Given the description of an element on the screen output the (x, y) to click on. 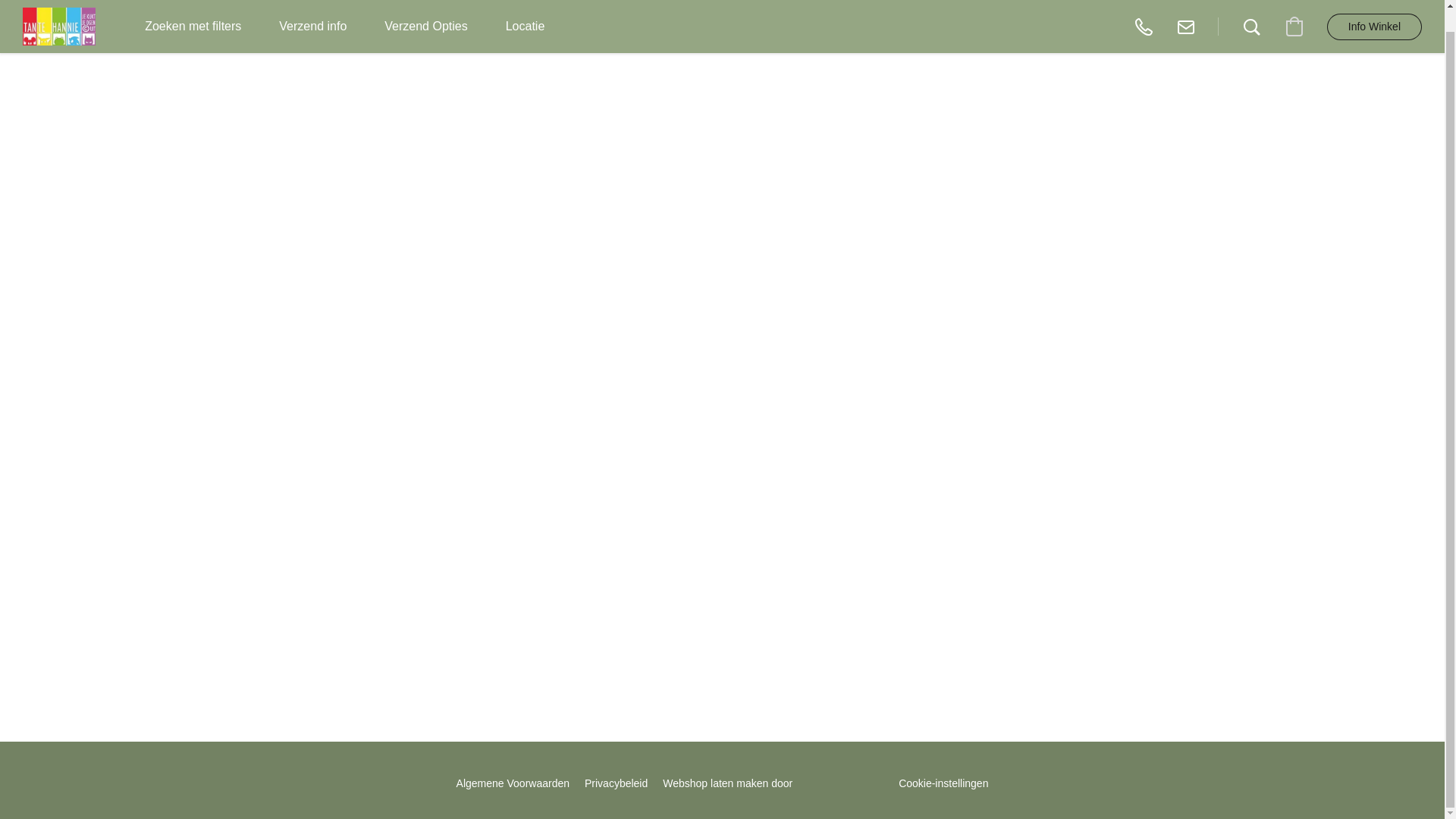
Zoeken op website (1251, 25)
Info Winkel (1374, 26)
Ga naar winkelwagen (1294, 25)
Verzend Opties (425, 26)
Locatie (525, 26)
0031633049119 (1143, 26)
Webshop laten maken door (772, 778)
Algemene Voorwaarden (513, 782)
Verzend info (312, 26)
Zoeken met filters (192, 26)
